Given the description of an element on the screen output the (x, y) to click on. 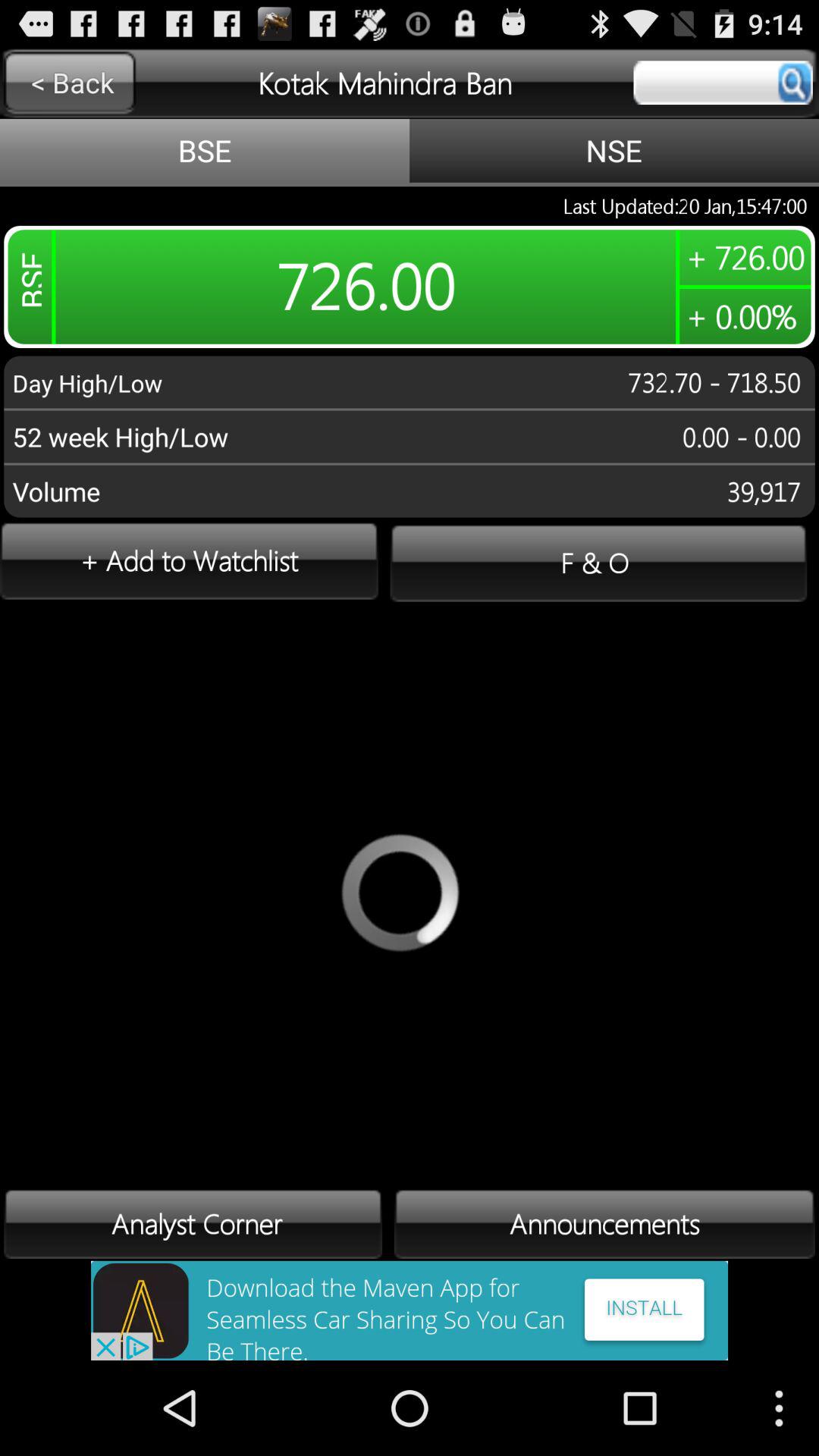
go to analyst corner (193, 1224)
